Given the description of an element on the screen output the (x, y) to click on. 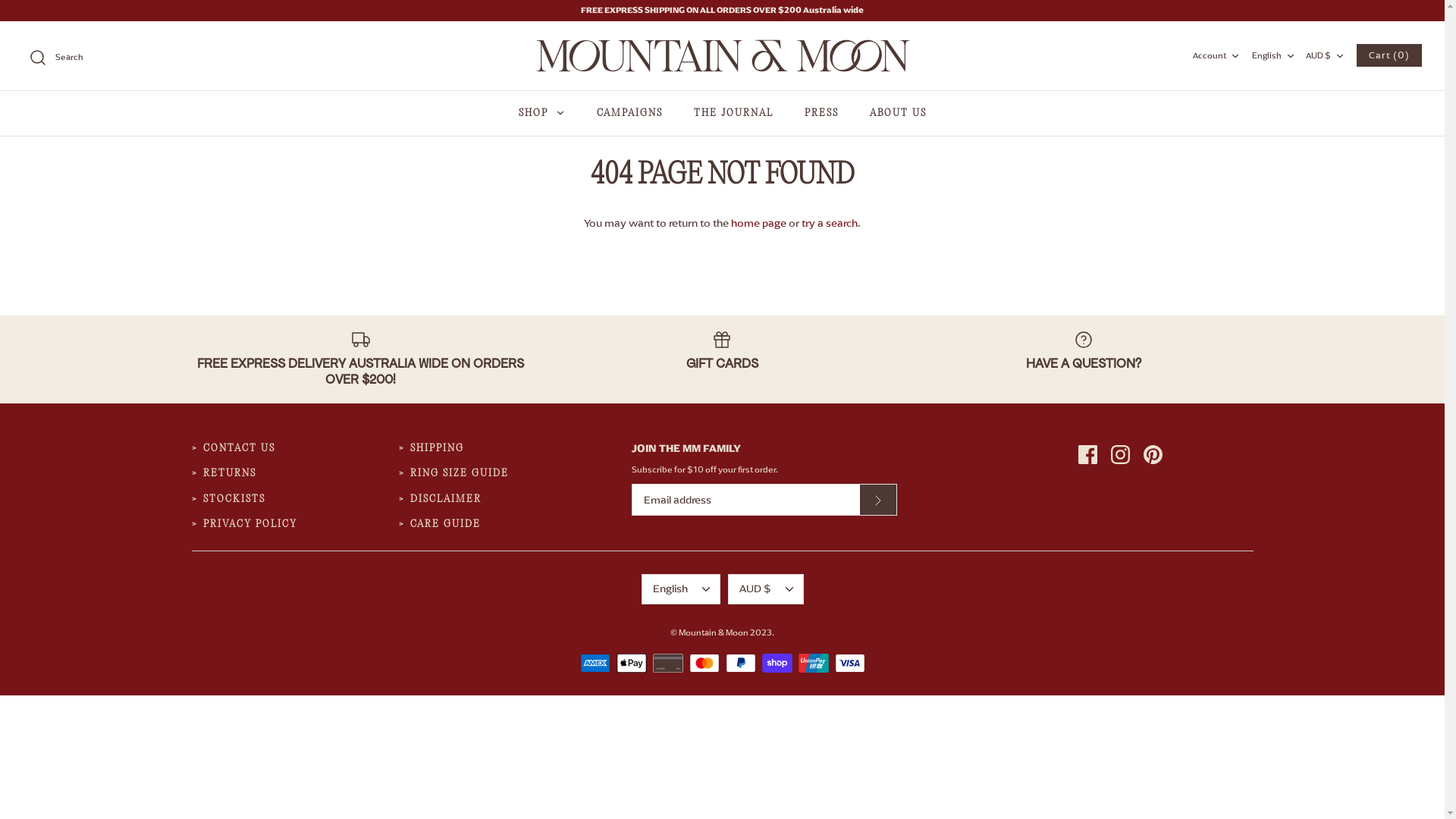
AUD $
Down Element type: text (1326, 55)
SHIPPING Element type: text (437, 448)
English
Down Element type: text (680, 589)
HAVE A QUESTION? Element type: text (1083, 351)
Mountain & Moon Element type: text (713, 632)
Facebook Element type: text (1087, 454)
home page Element type: text (758, 222)
Account
Down Element type: text (1217, 55)
Cart (0) Element type: text (1388, 54)
CONTACT US Element type: text (239, 448)
RING SIZE GUIDE Element type: text (459, 473)
RETURNS Element type: text (229, 473)
GIFT CARDS Element type: text (721, 351)
CARE GUIDE Element type: text (445, 524)
ABOUT US Element type: text (897, 113)
Instagram Element type: text (1119, 454)
Pinterest Element type: text (1152, 454)
PRESS Element type: text (820, 113)
PRIVACY POLICY Element type: text (250, 524)
Mountain & Moon  Element type: hover (721, 55)
DISCLAIMER Element type: text (445, 499)
CAMPAIGNS Element type: text (628, 113)
AUD $
Down Element type: text (765, 589)
SHOP Toggle menu Element type: text (542, 113)
THE JOURNAL Element type: text (732, 113)
English
Down Element type: text (1275, 55)
STOCKISTS Element type: text (234, 499)
try a search Element type: text (829, 222)
